Given the description of an element on the screen output the (x, y) to click on. 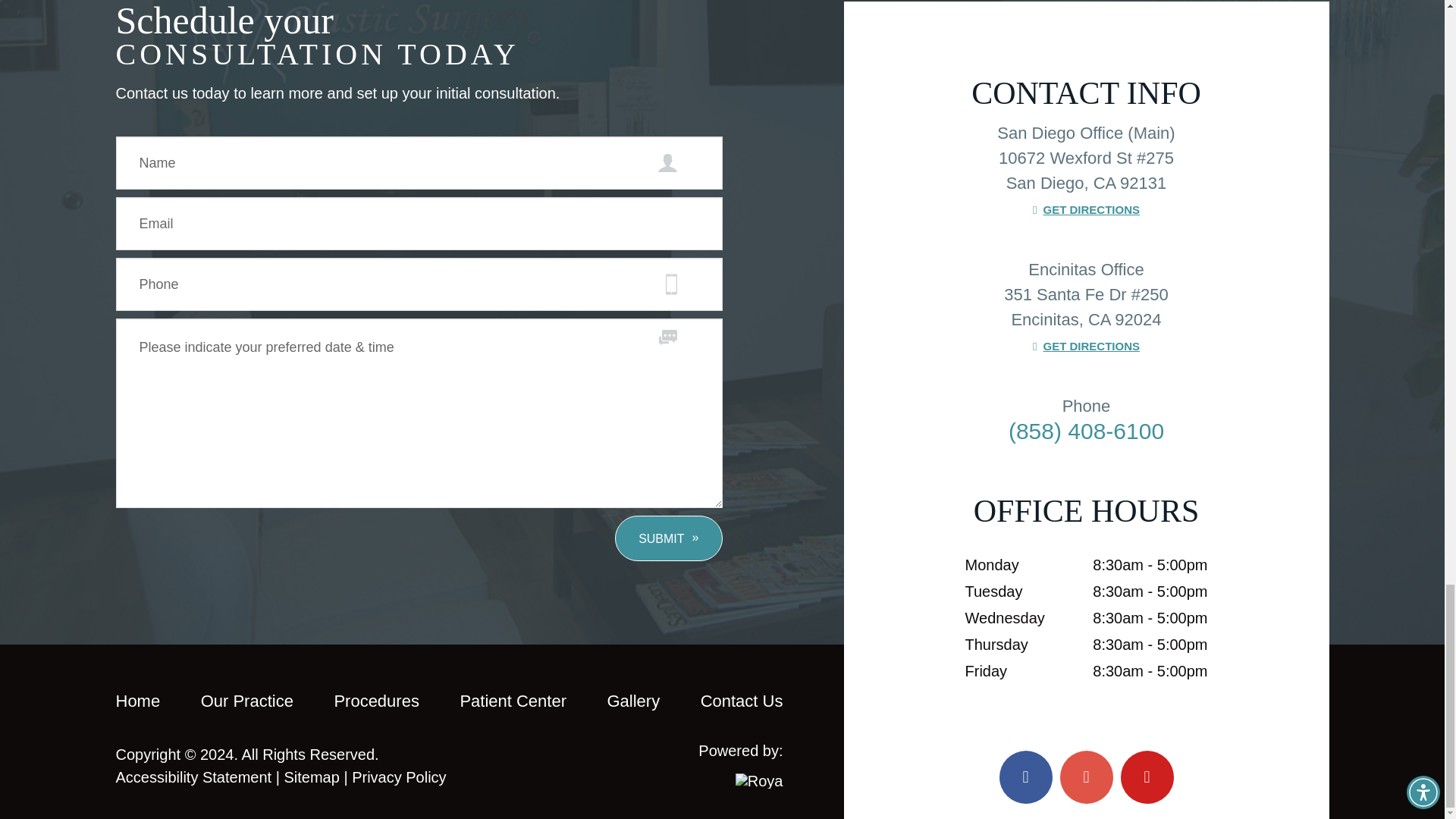
Roya (759, 780)
